Given the description of an element on the screen output the (x, y) to click on. 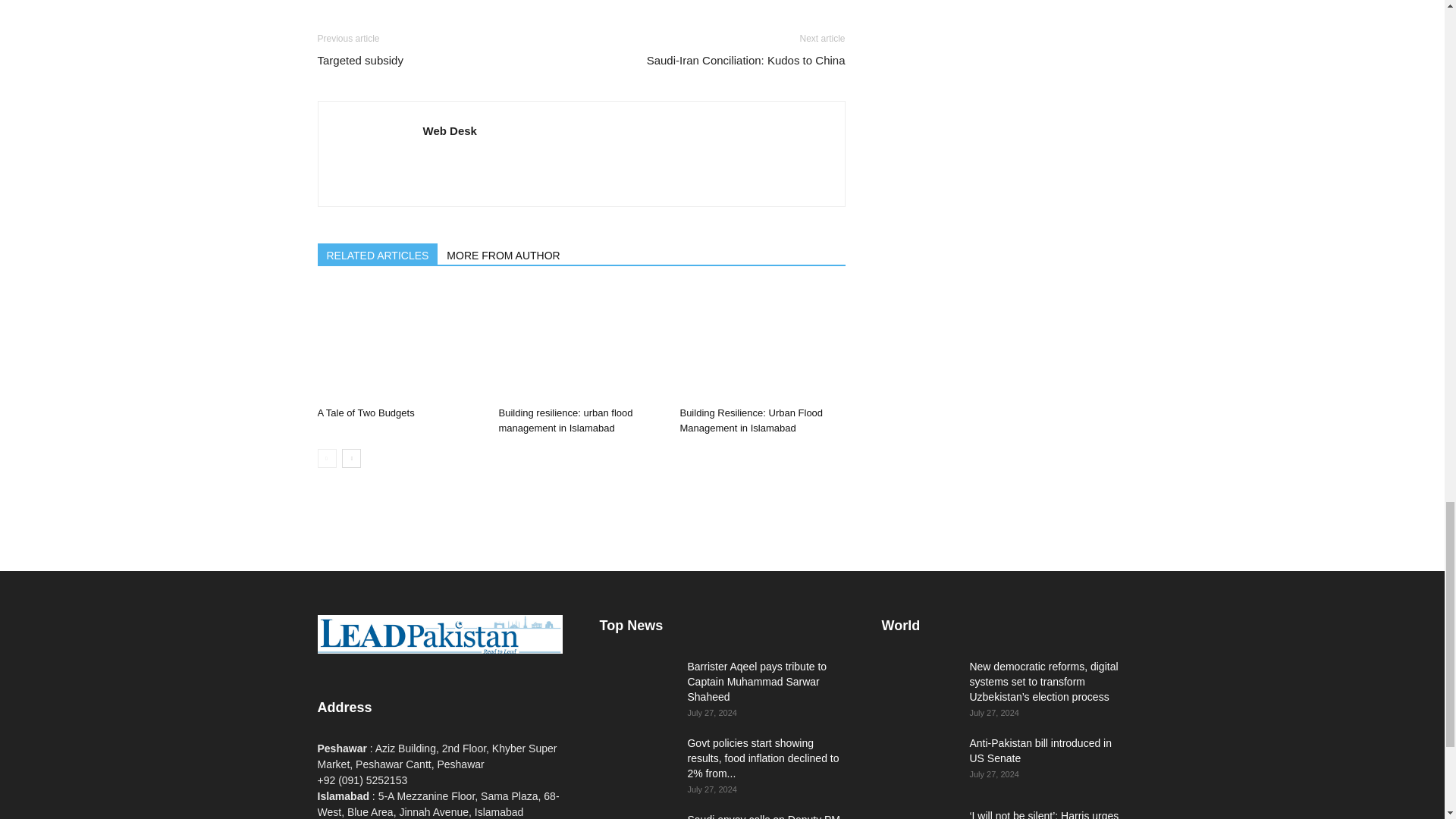
Building resilience: urban flood management in Islamabad (580, 343)
A Tale of Two Budgets (365, 412)
Building resilience: urban flood management in Islamabad (564, 420)
A Tale of Two Budgets (399, 343)
